Given the description of an element on the screen output the (x, y) to click on. 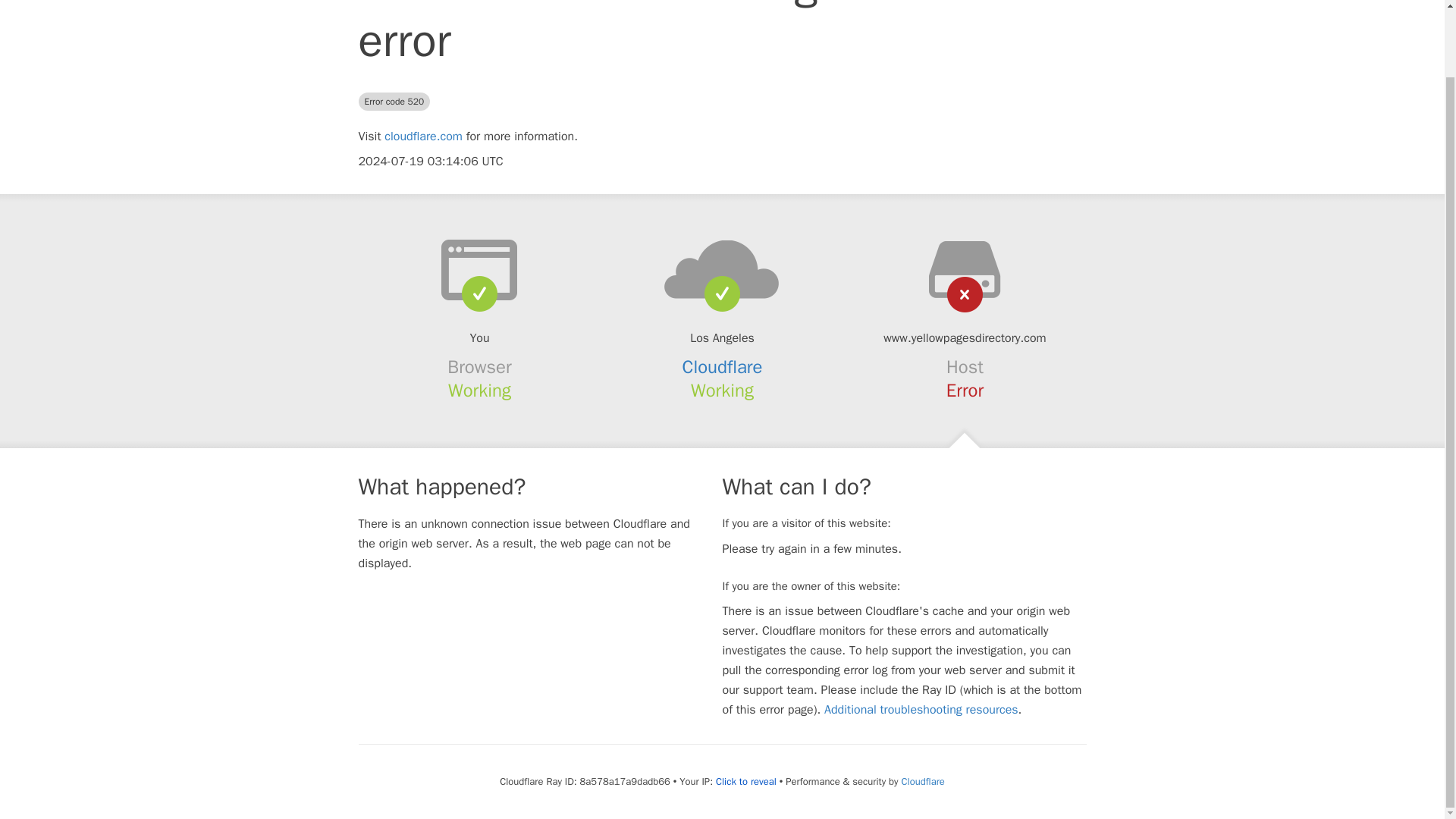
Cloudflare (922, 780)
Cloudflare (722, 366)
Click to reveal (746, 781)
Additional troubleshooting resources (920, 709)
cloudflare.com (423, 136)
